Given the description of an element on the screen output the (x, y) to click on. 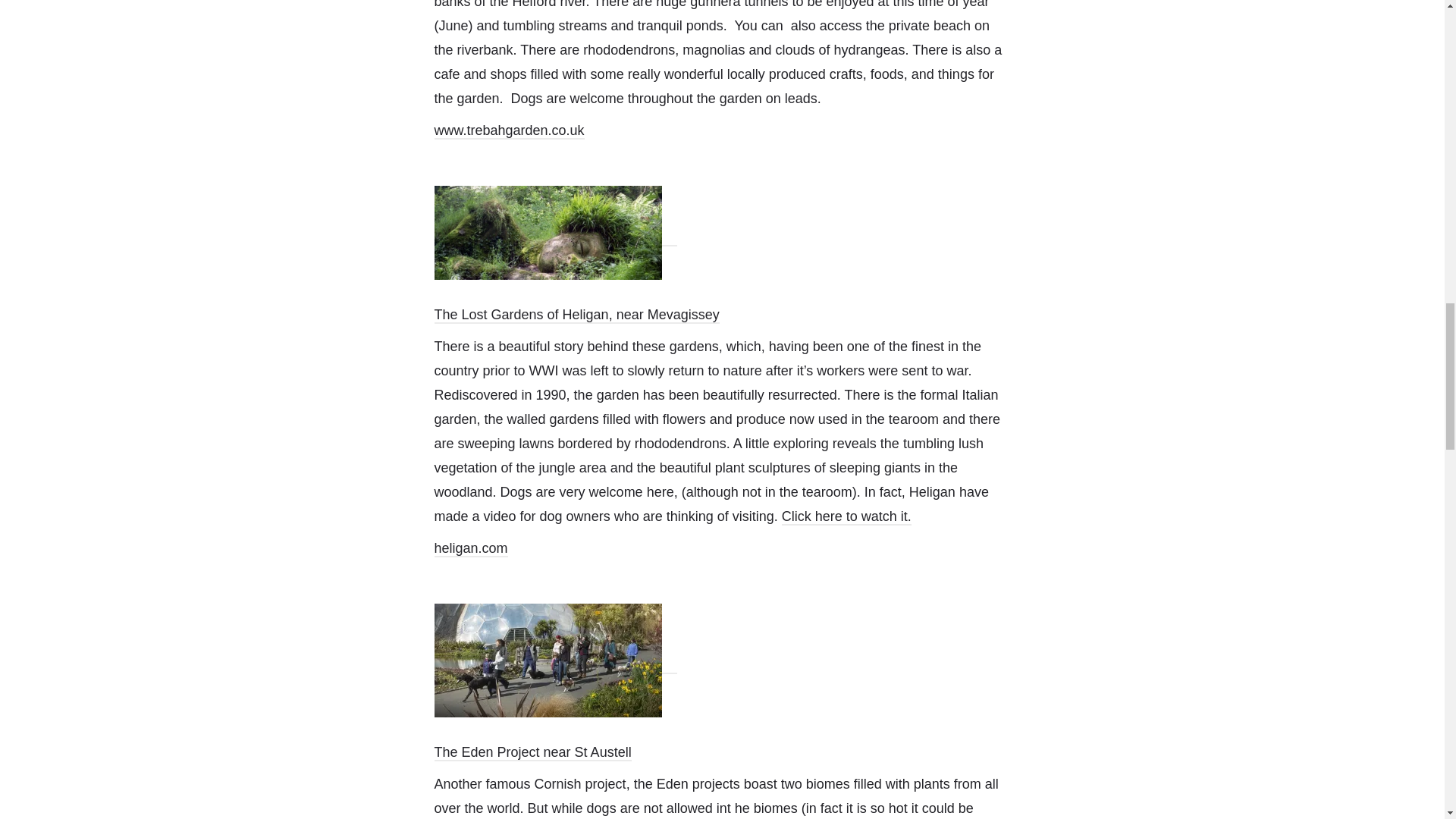
Click here to watch it. (846, 516)
The Eden Project near St Austell (531, 752)
The Lost Gardens of Heligan, near Mevagissey (576, 315)
heligan.com (469, 548)
www.trebahgarden.co.uk (508, 130)
